Given the description of an element on the screen output the (x, y) to click on. 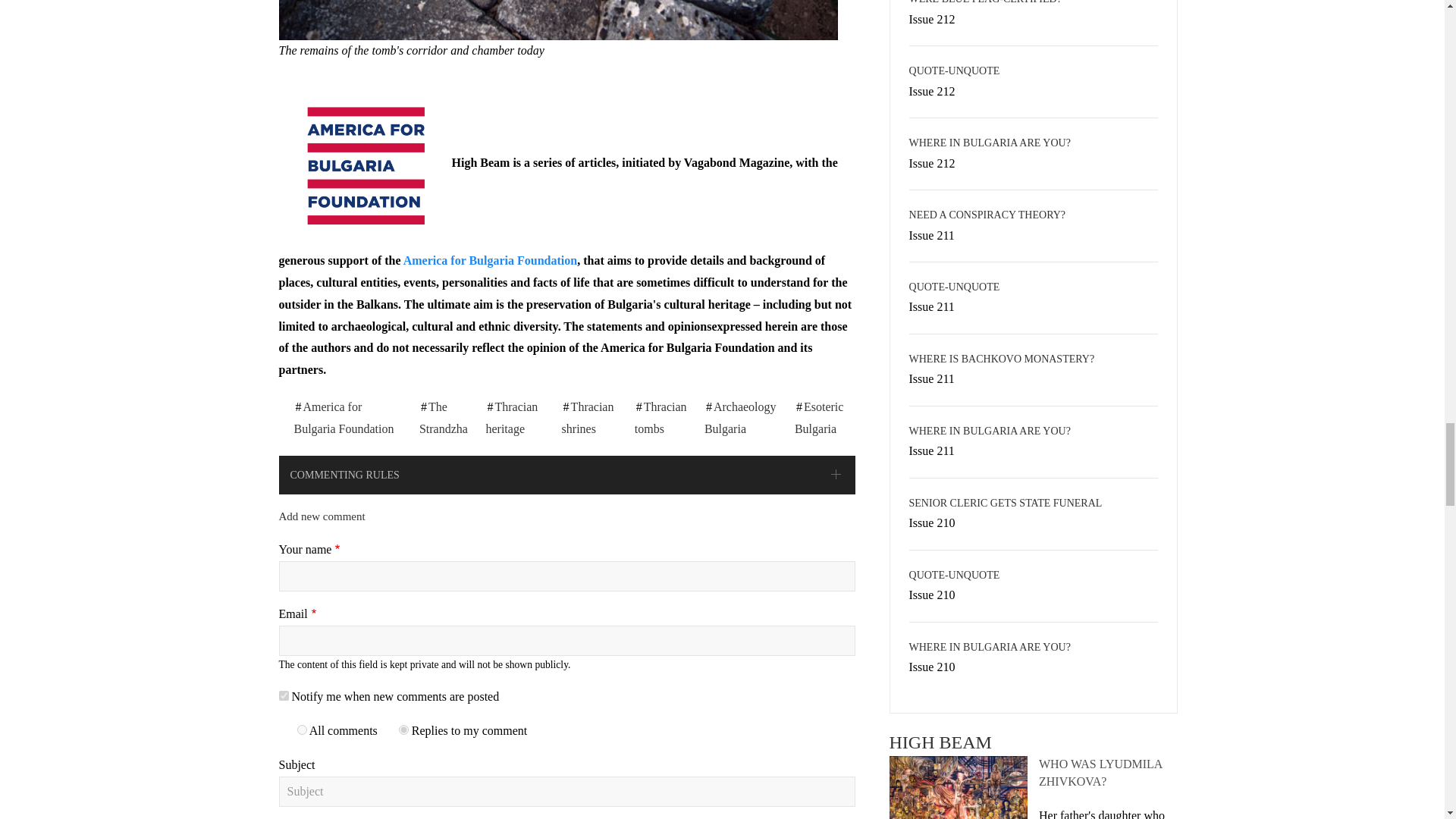
1 (302, 729)
2 (403, 729)
1 (283, 696)
